Given the description of an element on the screen output the (x, y) to click on. 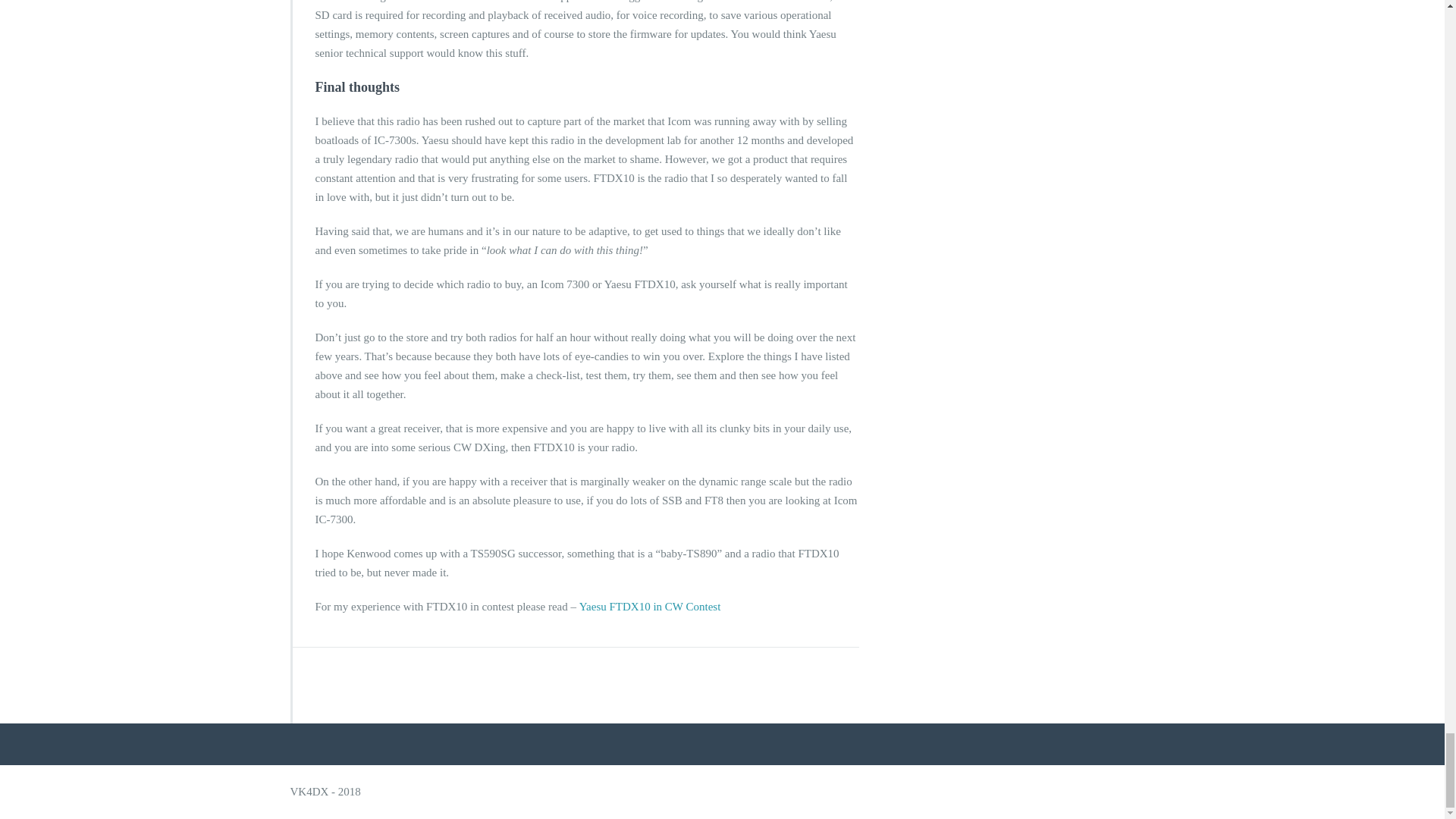
Yaesu FTDX10 in CW Contest (649, 606)
